Given the description of an element on the screen output the (x, y) to click on. 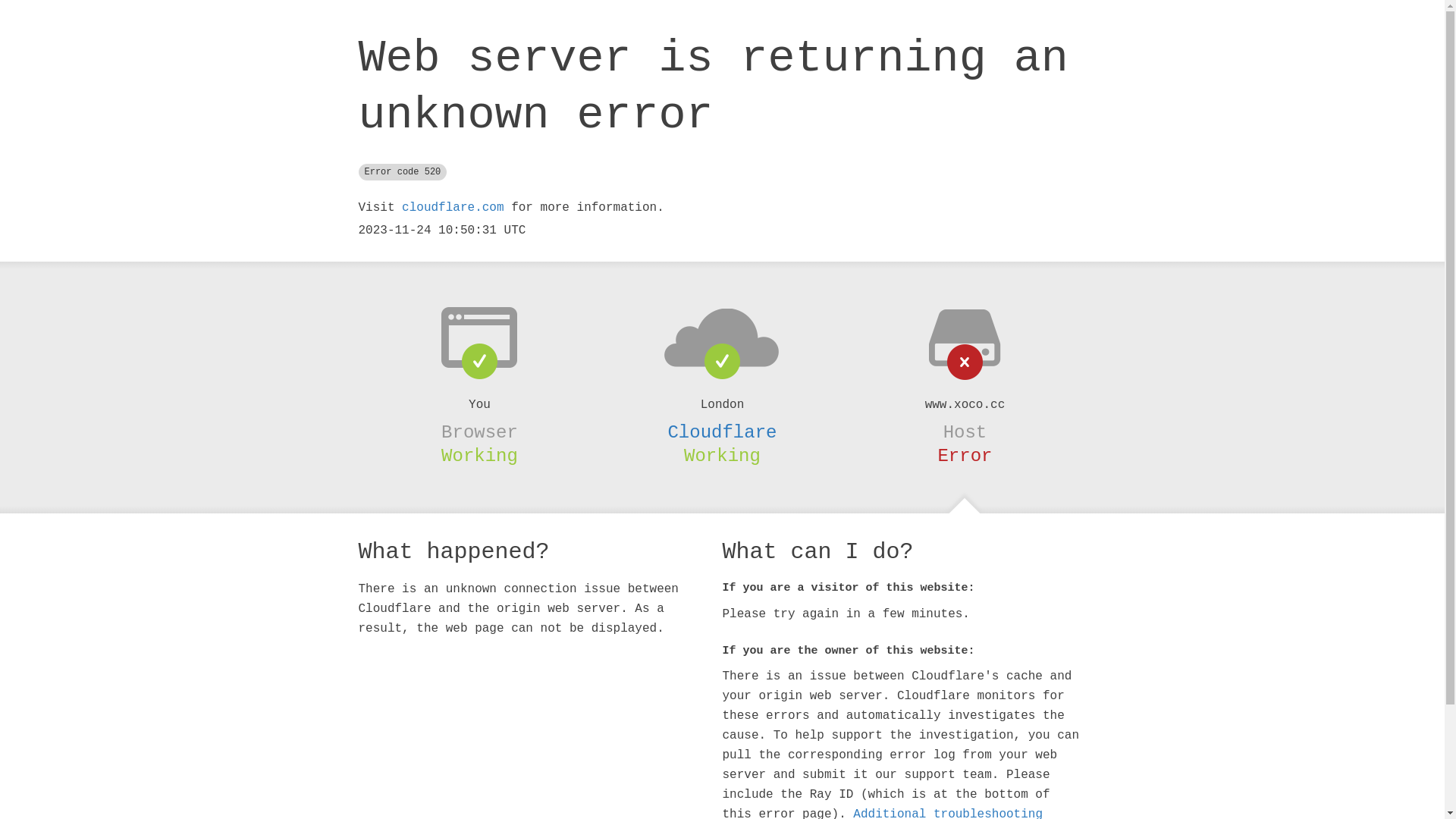
Cloudflare Element type: text (721, 432)
cloudflare.com Element type: text (452, 207)
